Given the description of an element on the screen output the (x, y) to click on. 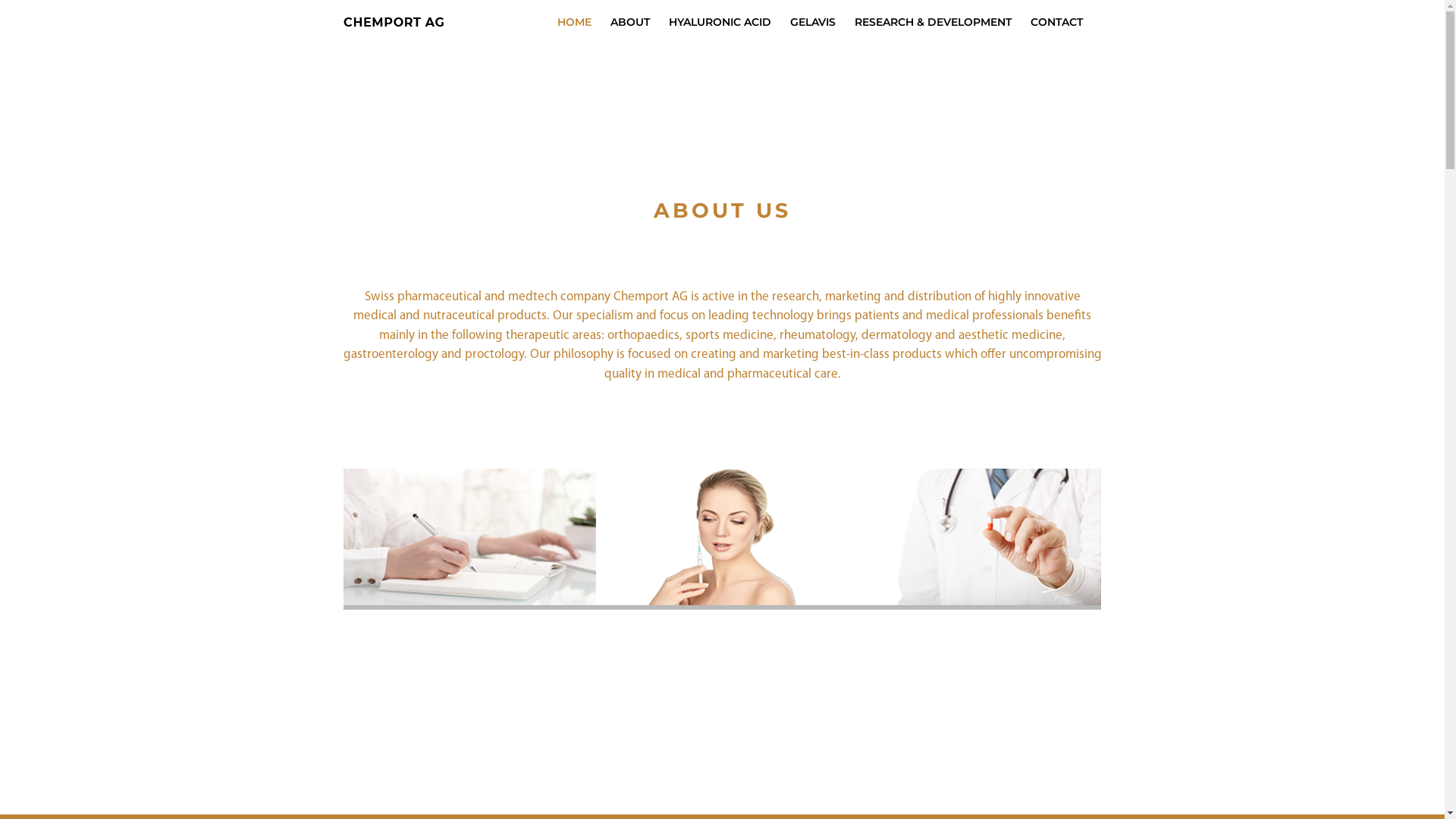
GELAVIS Element type: text (812, 21)
chemport-3-3-mirror Element type: hover (974, 536)
CONTACT Element type: text (1055, 21)
chemport-1-3 Element type: hover (468, 536)
RESEARCH & DEVELOPMENT Element type: text (931, 21)
ABOUT Element type: text (629, 21)
HOME Element type: text (573, 21)
HYALURONIC ACID Element type: text (719, 21)
chemport-2-3-crop Element type: hover (722, 536)
